Given the description of an element on the screen output the (x, y) to click on. 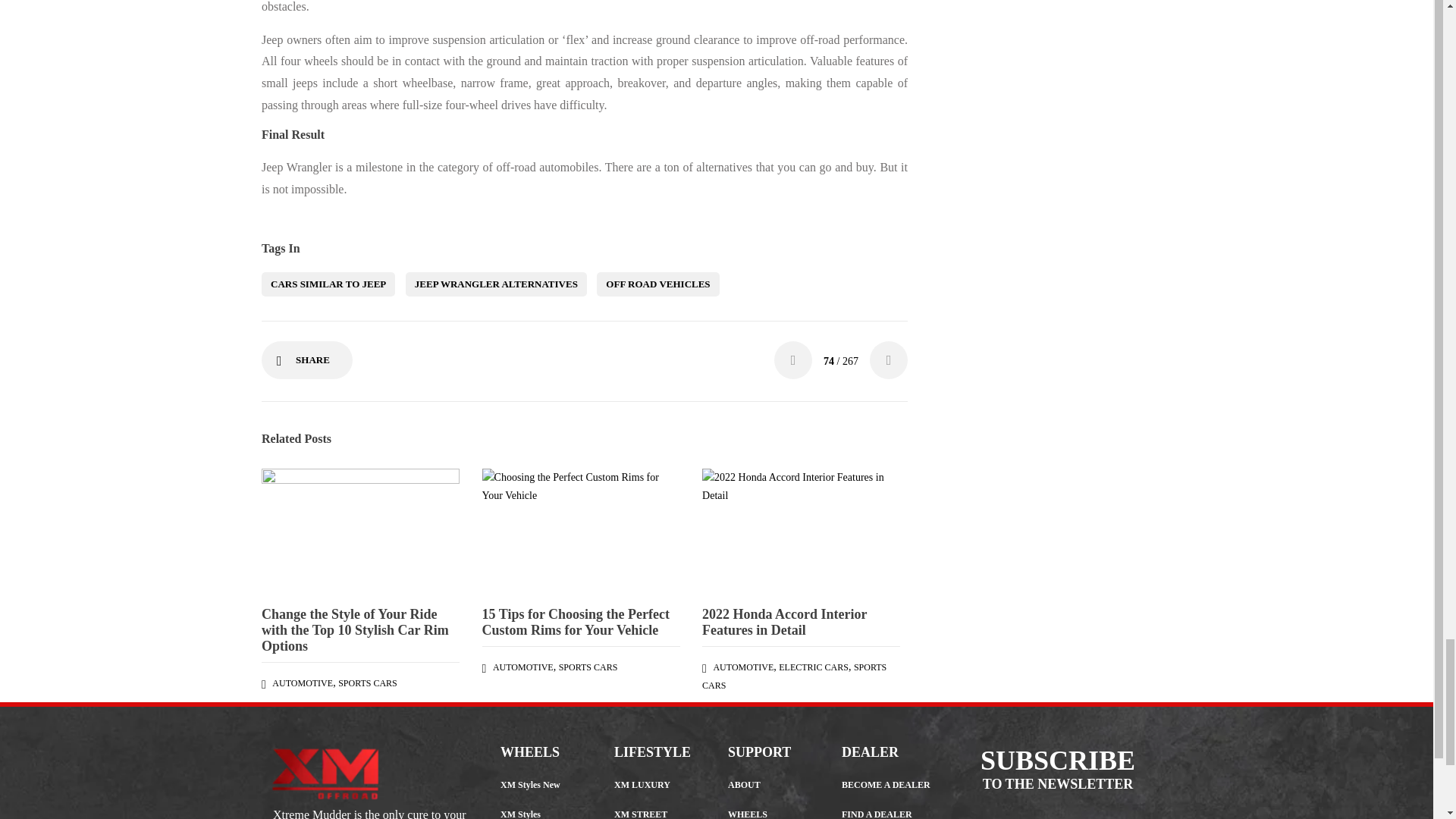
CARS SIMILAR TO JEEP (328, 283)
AUTOMOTIVE (523, 666)
SPORTS CARS (588, 666)
AUTOMOTIVE (302, 683)
OFF ROAD VEHICLES (657, 283)
JEEP WRANGLER ALTERNATIVES (496, 283)
SPORTS CARS (367, 683)
